Given the description of an element on the screen output the (x, y) to click on. 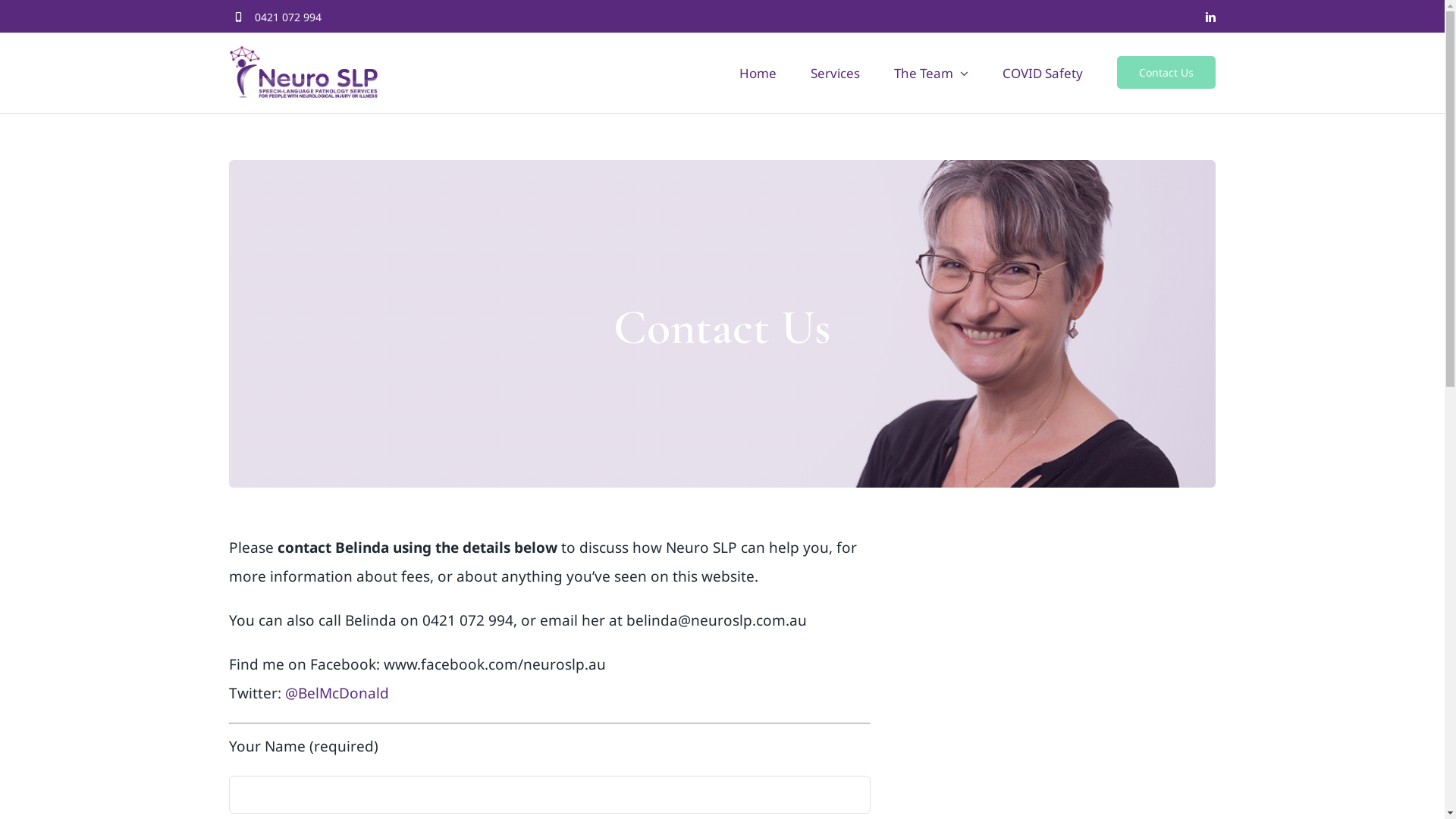
@BelMcDonald Element type: text (337, 692)
The Team Element type: text (931, 72)
Home Element type: text (757, 72)
COVID Safety Element type: text (1042, 72)
Contact Us Element type: text (1165, 72)
Services Element type: text (834, 72)
